Given the description of an element on the screen output the (x, y) to click on. 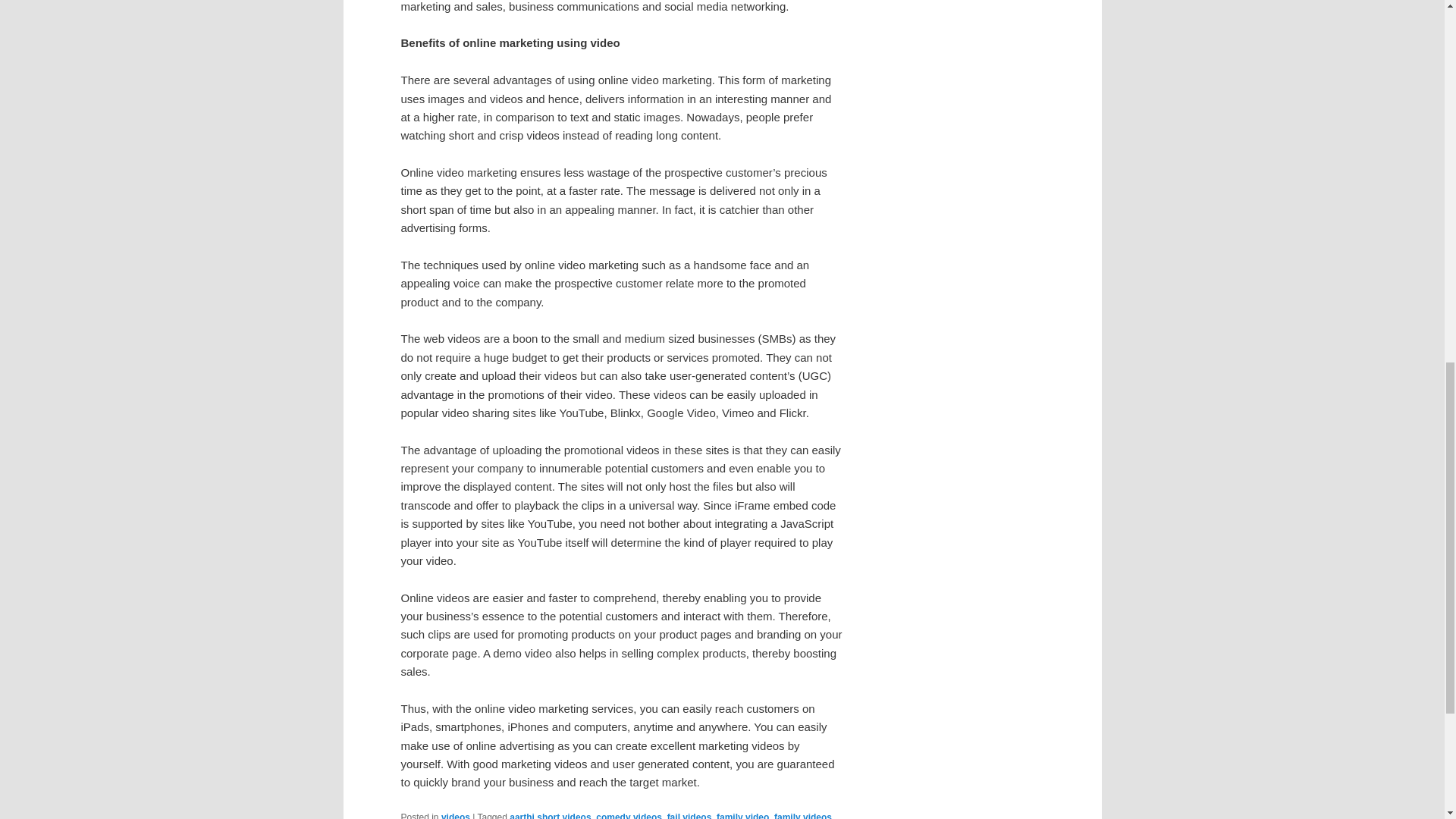
aarthi short videos (550, 815)
videos (455, 815)
family video (742, 815)
family videos (802, 815)
comedy videos (628, 815)
fail videos (688, 815)
View all posts in videos (455, 815)
